Given the description of an element on the screen output the (x, y) to click on. 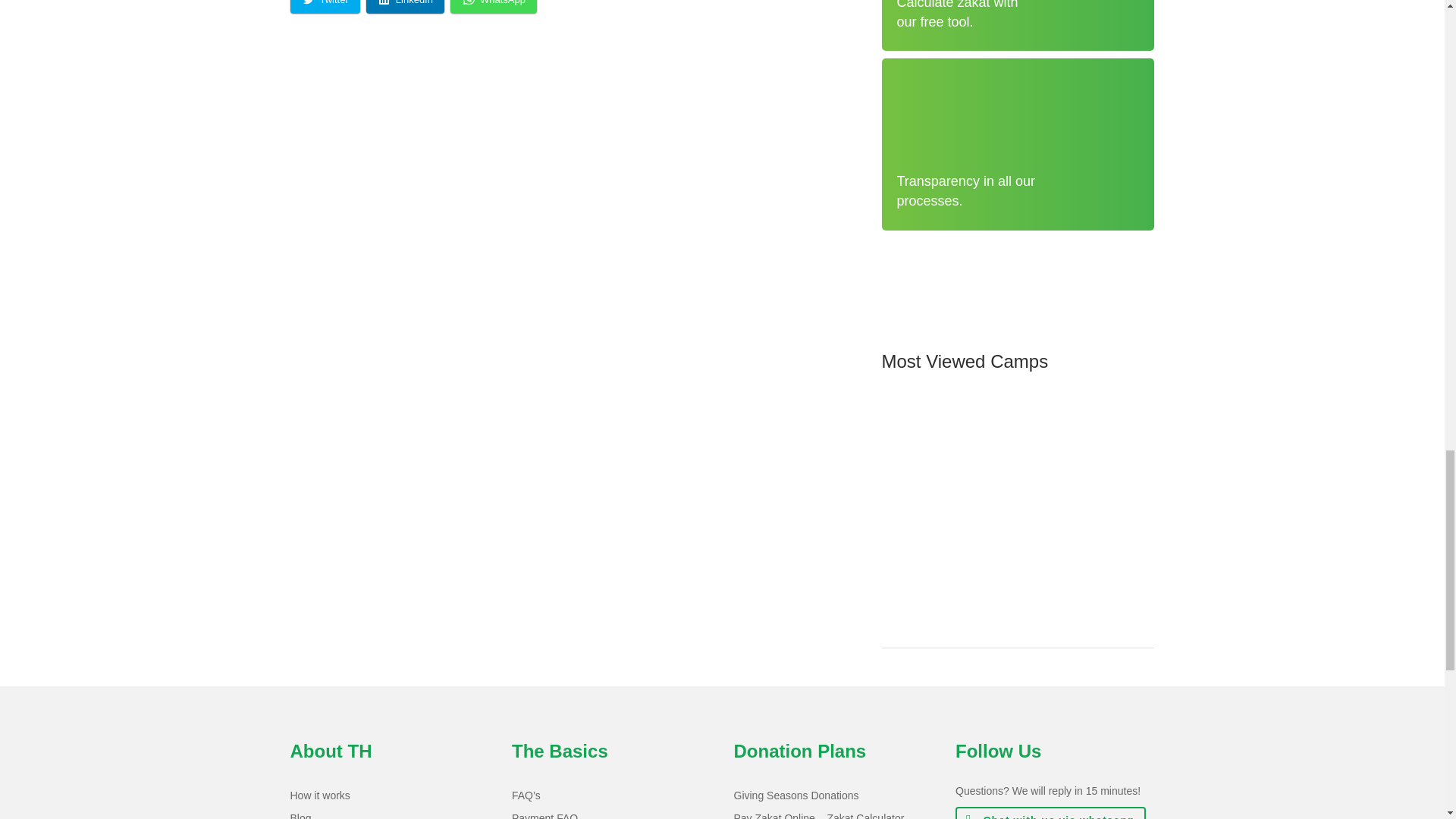
WhatsApp (493, 6)
Twitter (324, 6)
LinkedIn (405, 6)
